Given the description of an element on the screen output the (x, y) to click on. 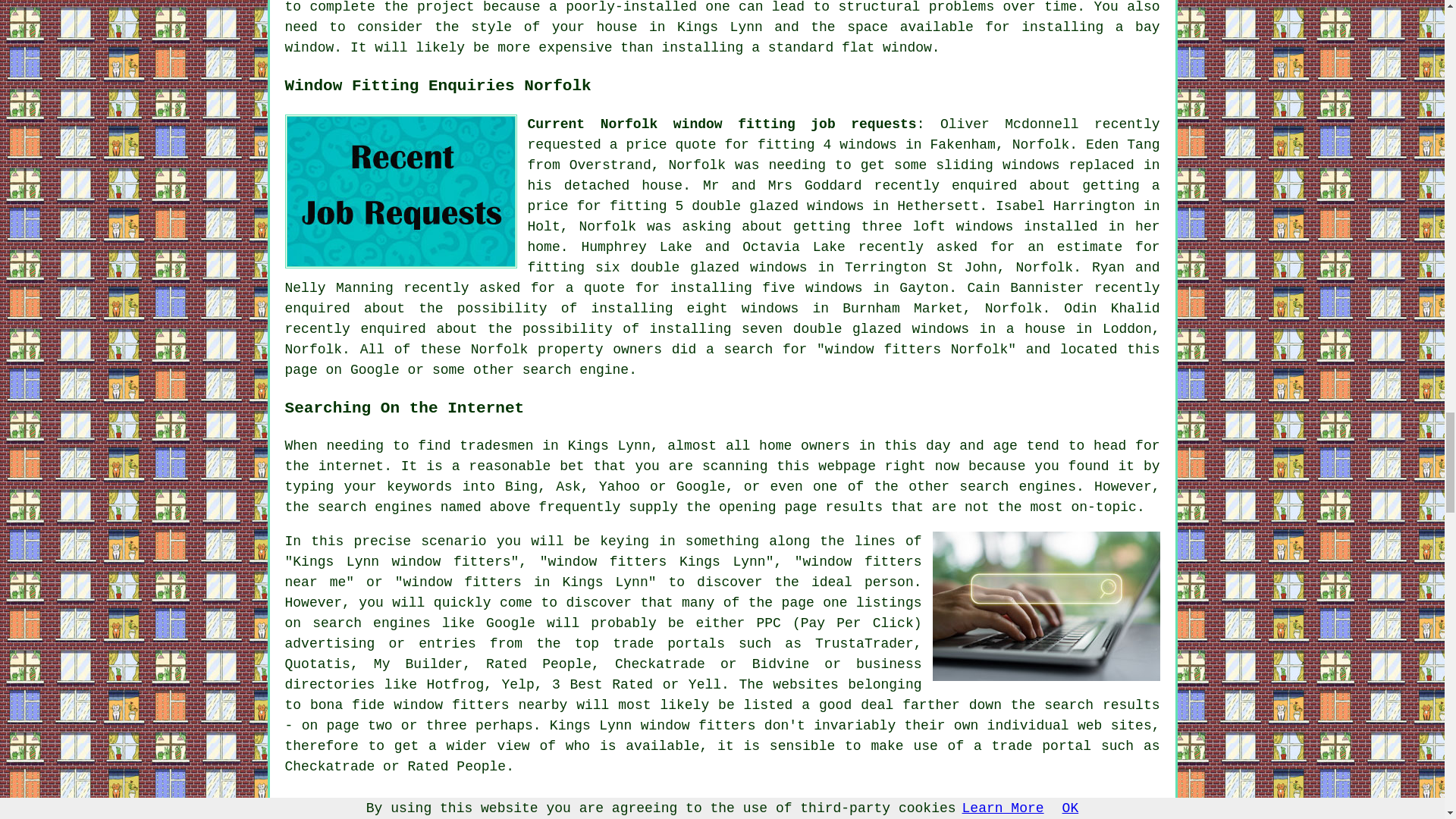
Norfolk Window Fitting Enquiries (400, 190)
Search Engine Results Window Fitters Kings Lynn (1046, 605)
